Given the description of an element on the screen output the (x, y) to click on. 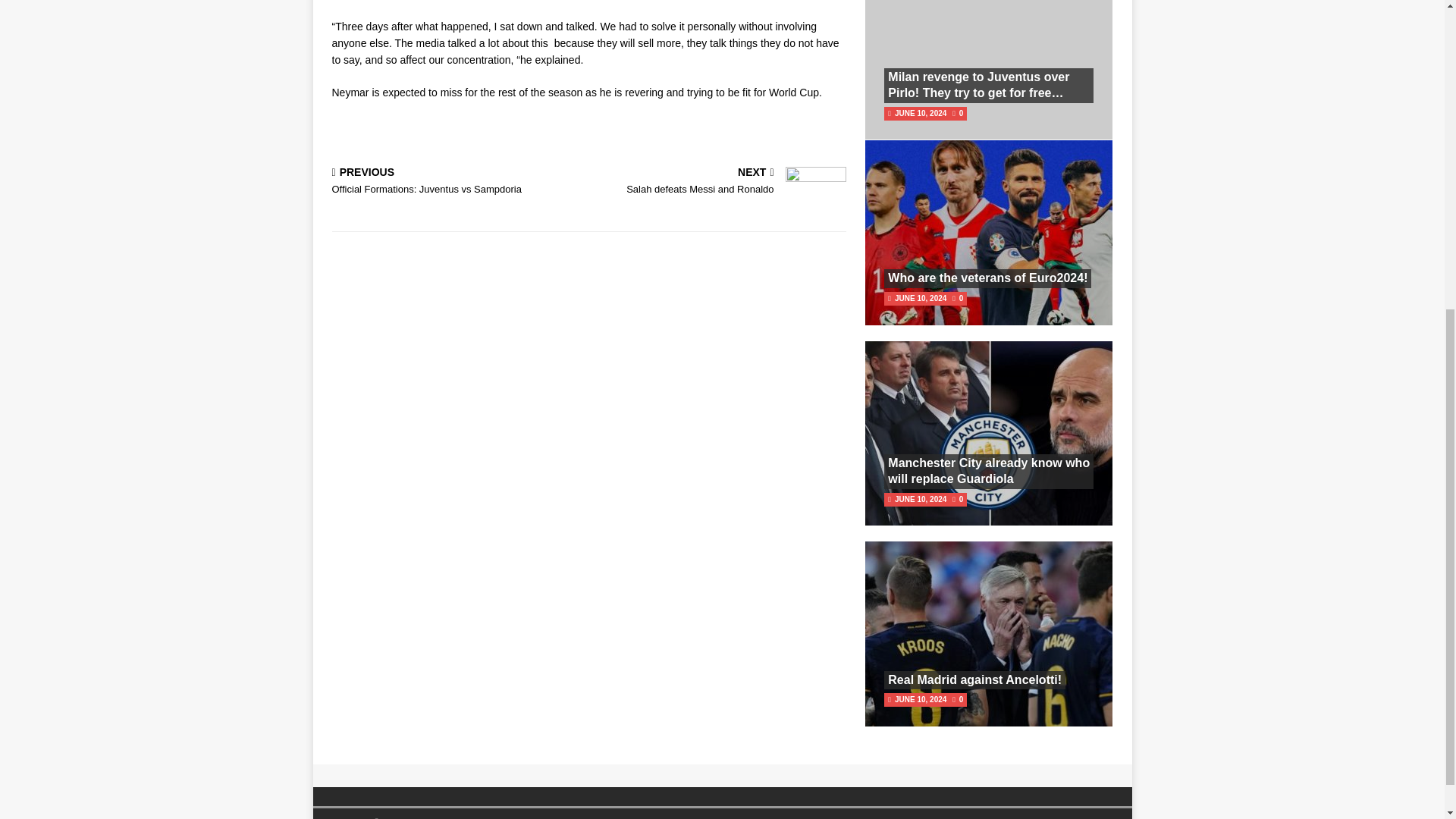
Manchester City already know who will replace Guardiola (988, 470)
Who are the veterans of Euro2024! (987, 277)
Real Madrid against Ancelotti! (974, 679)
Manchester City already know who will replace Guardiola (720, 182)
Real Madrid against Ancelotti! (457, 182)
Who are the veterans of Euro2024! (988, 470)
